Given the description of an element on the screen output the (x, y) to click on. 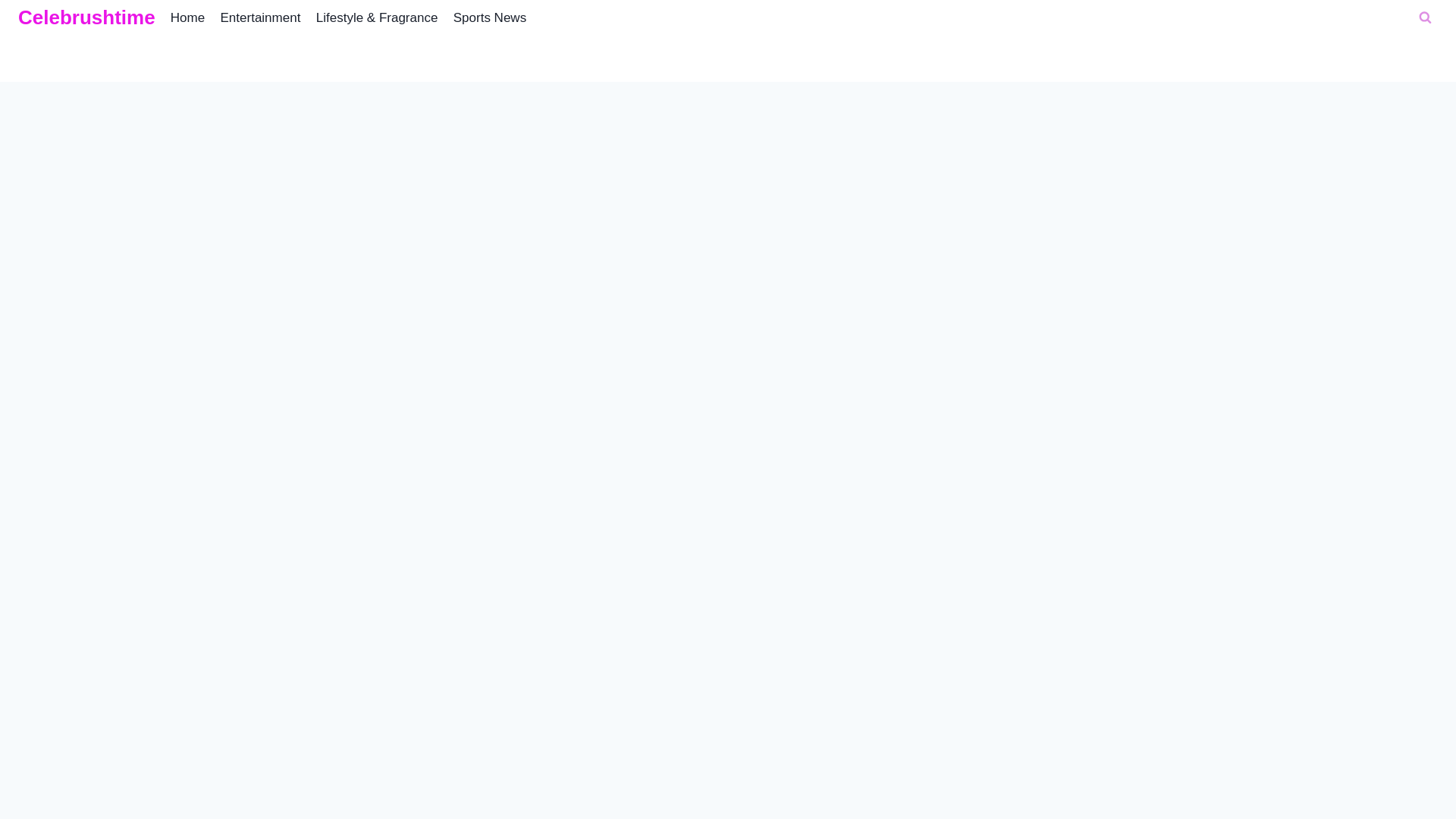
Sports News (489, 18)
Entertainment (259, 18)
Celebrushtime (86, 17)
Home (187, 18)
